Given the description of an element on the screen output the (x, y) to click on. 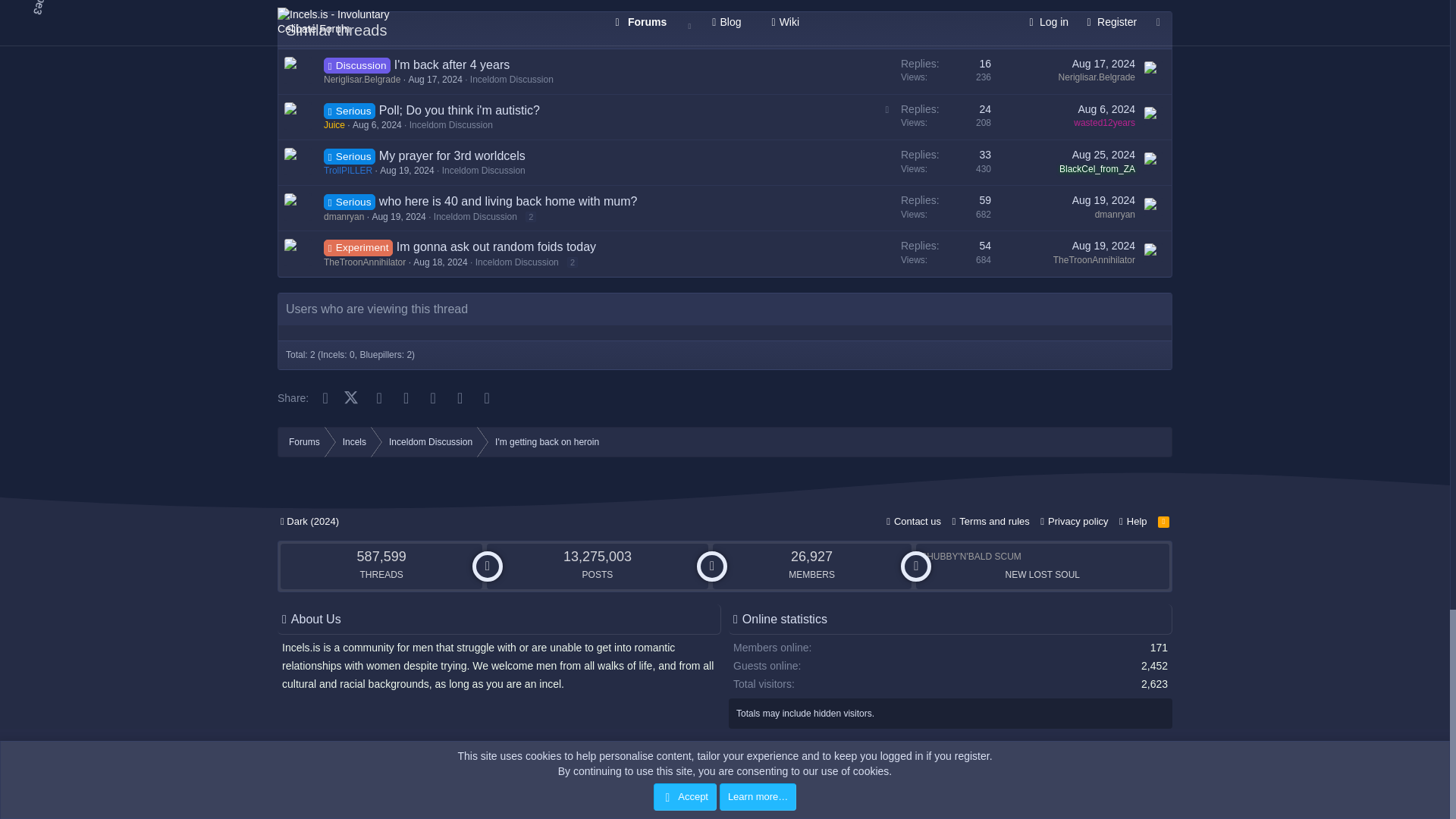
Aug 17, 2024 at 12:57 AM (434, 79)
First message reaction score: 0 (946, 71)
Aug 6, 2024 at 1:43 PM (376, 124)
Aug 17, 2024 at 1:45 AM (1103, 63)
